Given the description of an element on the screen output the (x, y) to click on. 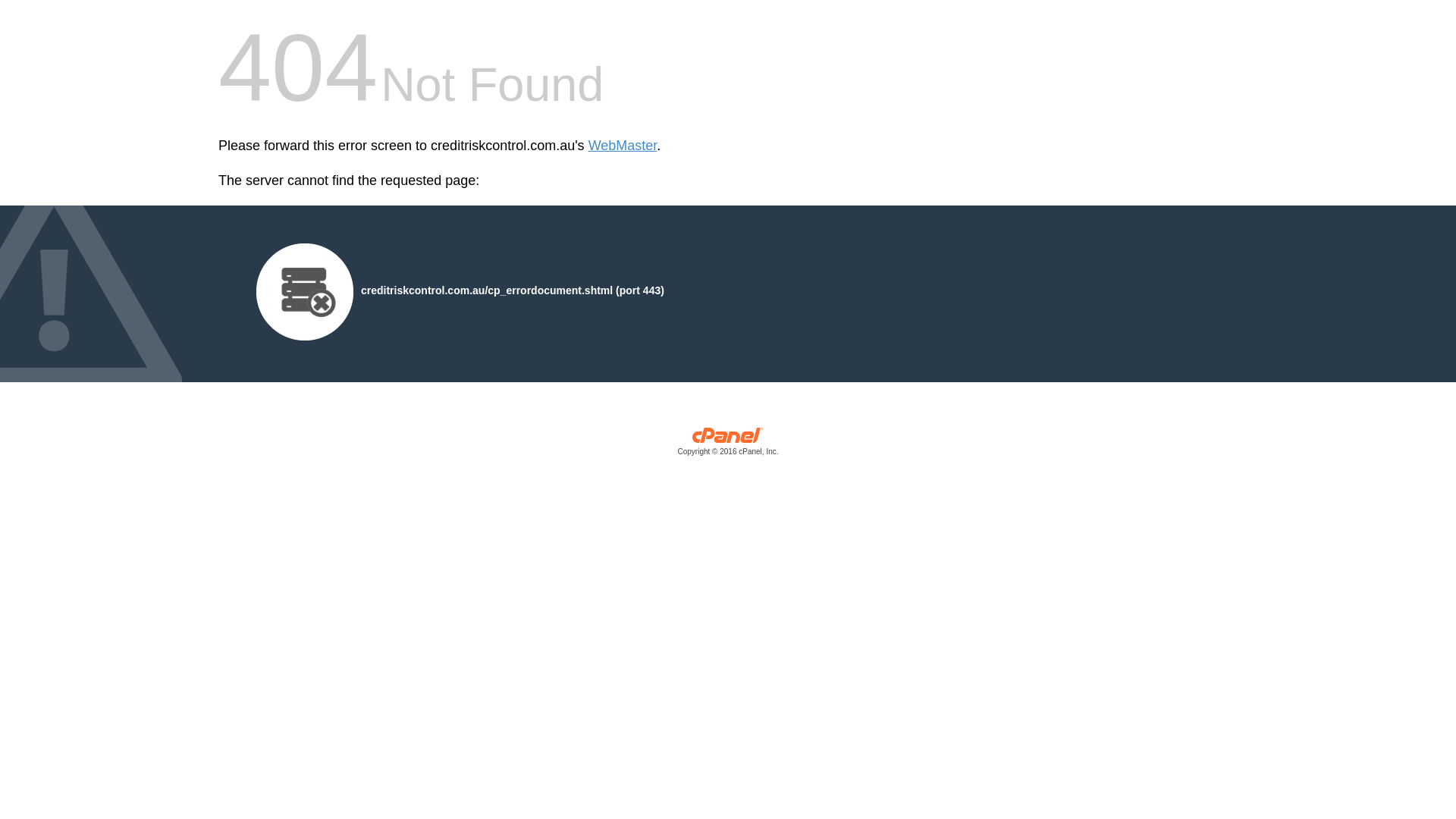
WebMaster Element type: text (622, 145)
